Given the description of an element on the screen output the (x, y) to click on. 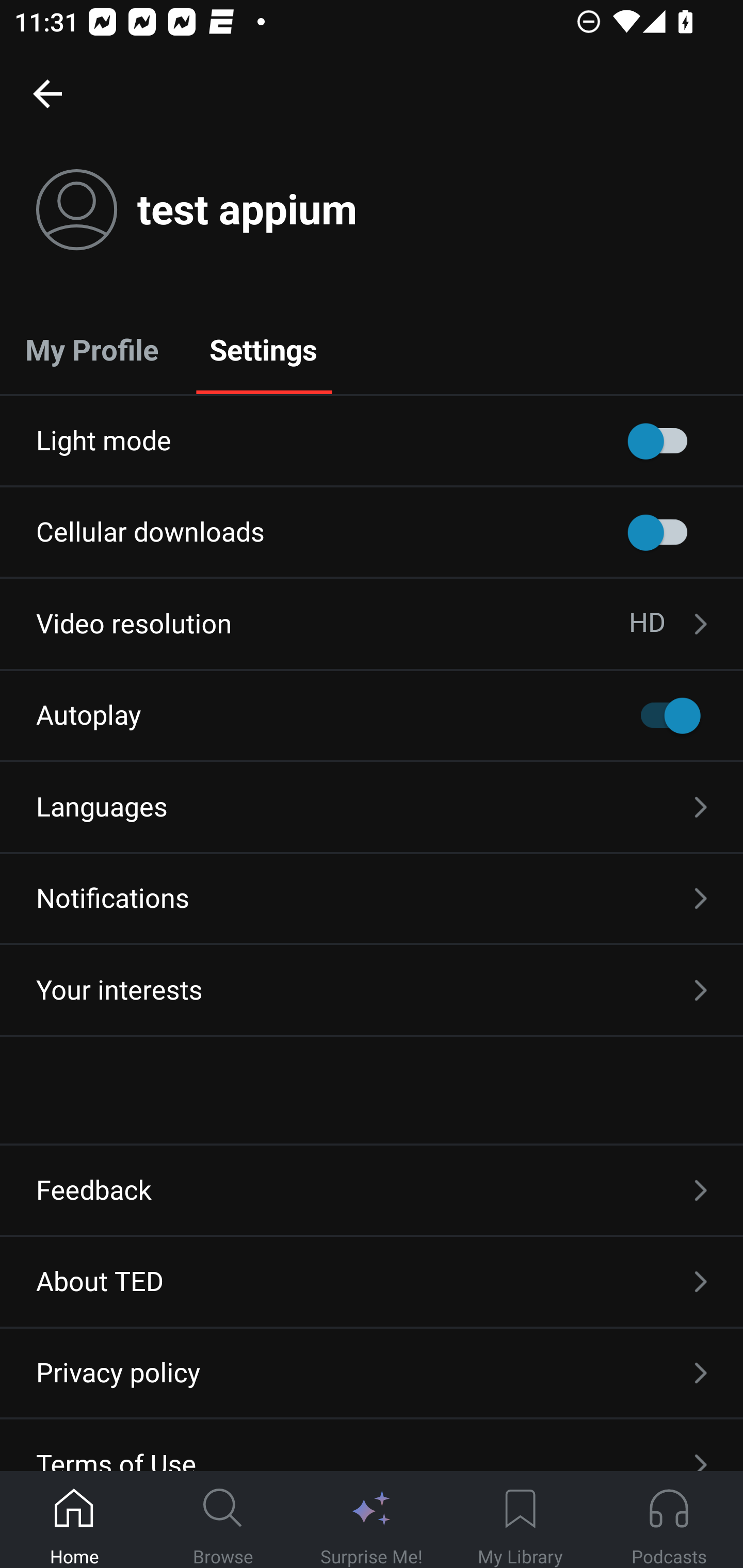
Home, back (47, 92)
My Profile (92, 348)
Settings (263, 348)
Video resolution HD (371, 623)
Languages (371, 806)
Notifications (371, 897)
Your interests (371, 989)
Feedback (371, 1190)
About TED (371, 1281)
Privacy policy (371, 1372)
Home (74, 1520)
Browse (222, 1520)
Surprise Me! (371, 1520)
My Library (519, 1520)
Podcasts (668, 1520)
